Given the description of an element on the screen output the (x, y) to click on. 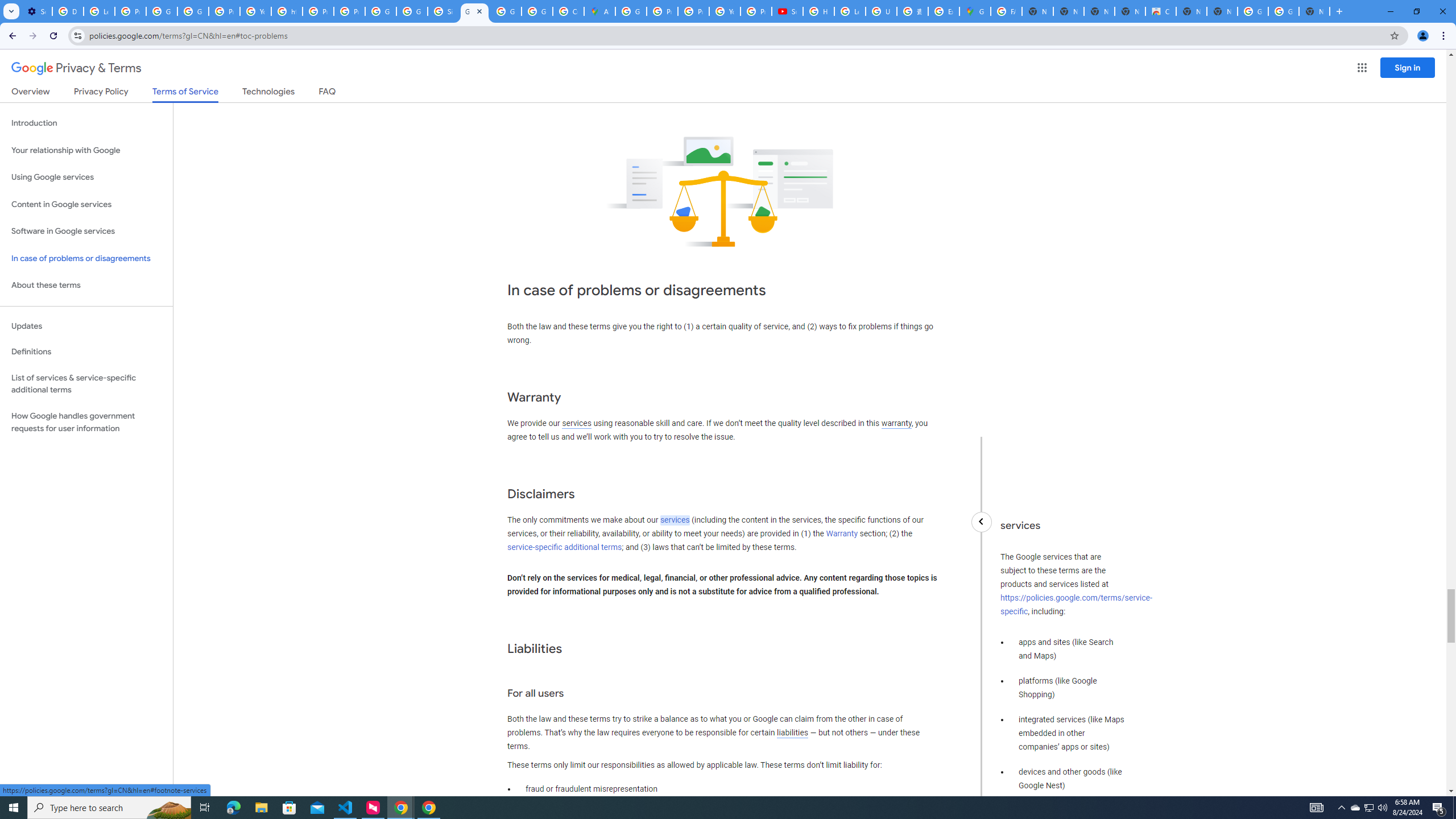
Warranty (841, 533)
How Google handles government requests for user information (86, 422)
services (674, 520)
In case of problems or disagreements (86, 258)
Google Account Help (161, 11)
warranty (895, 423)
Chrome Web Store (1160, 11)
